Given the description of an element on the screen output the (x, y) to click on. 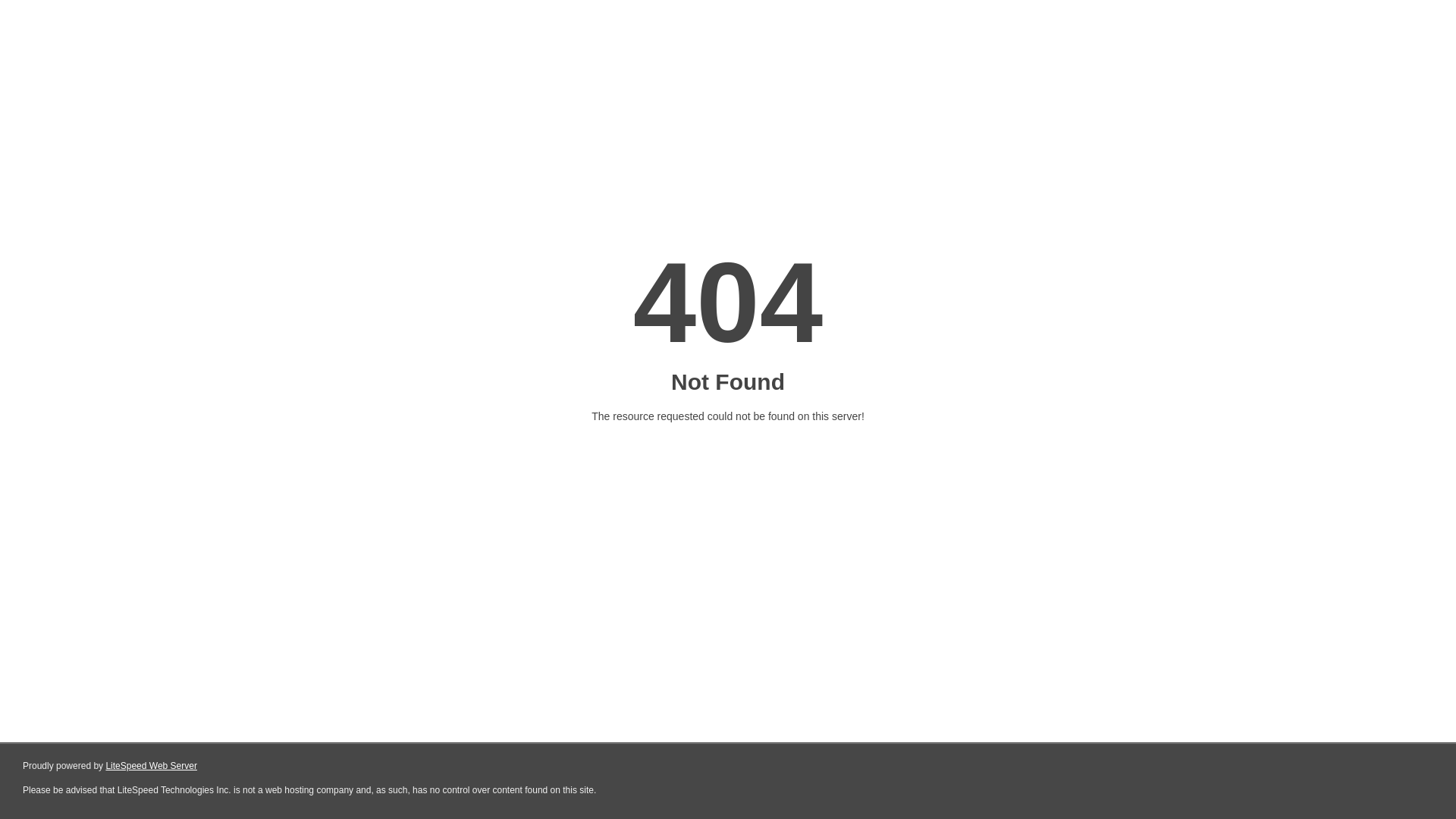
LiteSpeed Web Server Element type: text (151, 765)
